Given the description of an element on the screen output the (x, y) to click on. 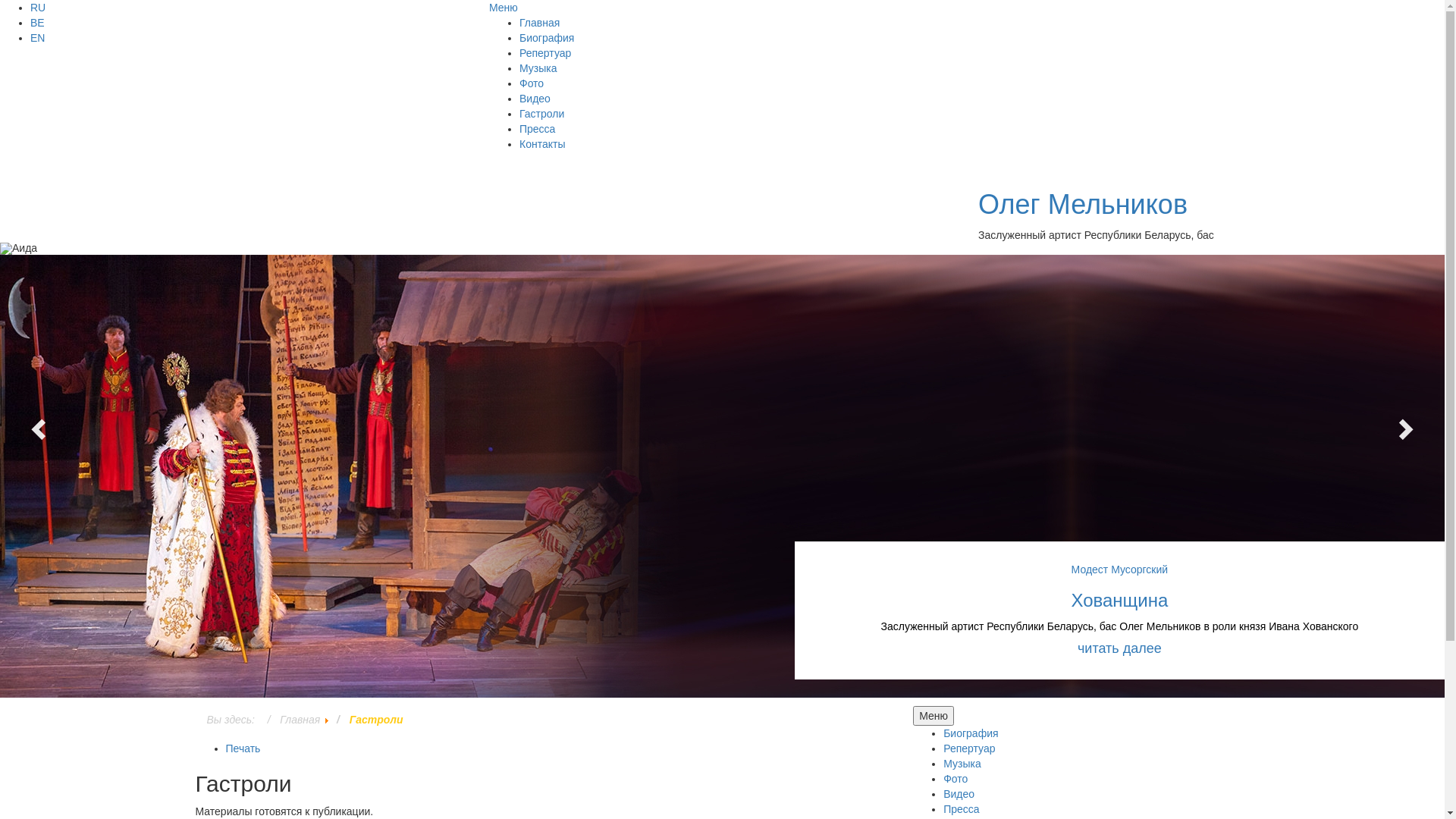
RU Element type: text (37, 7)
BE Element type: text (37, 22)
EN Element type: text (37, 37)
